Given the description of an element on the screen output the (x, y) to click on. 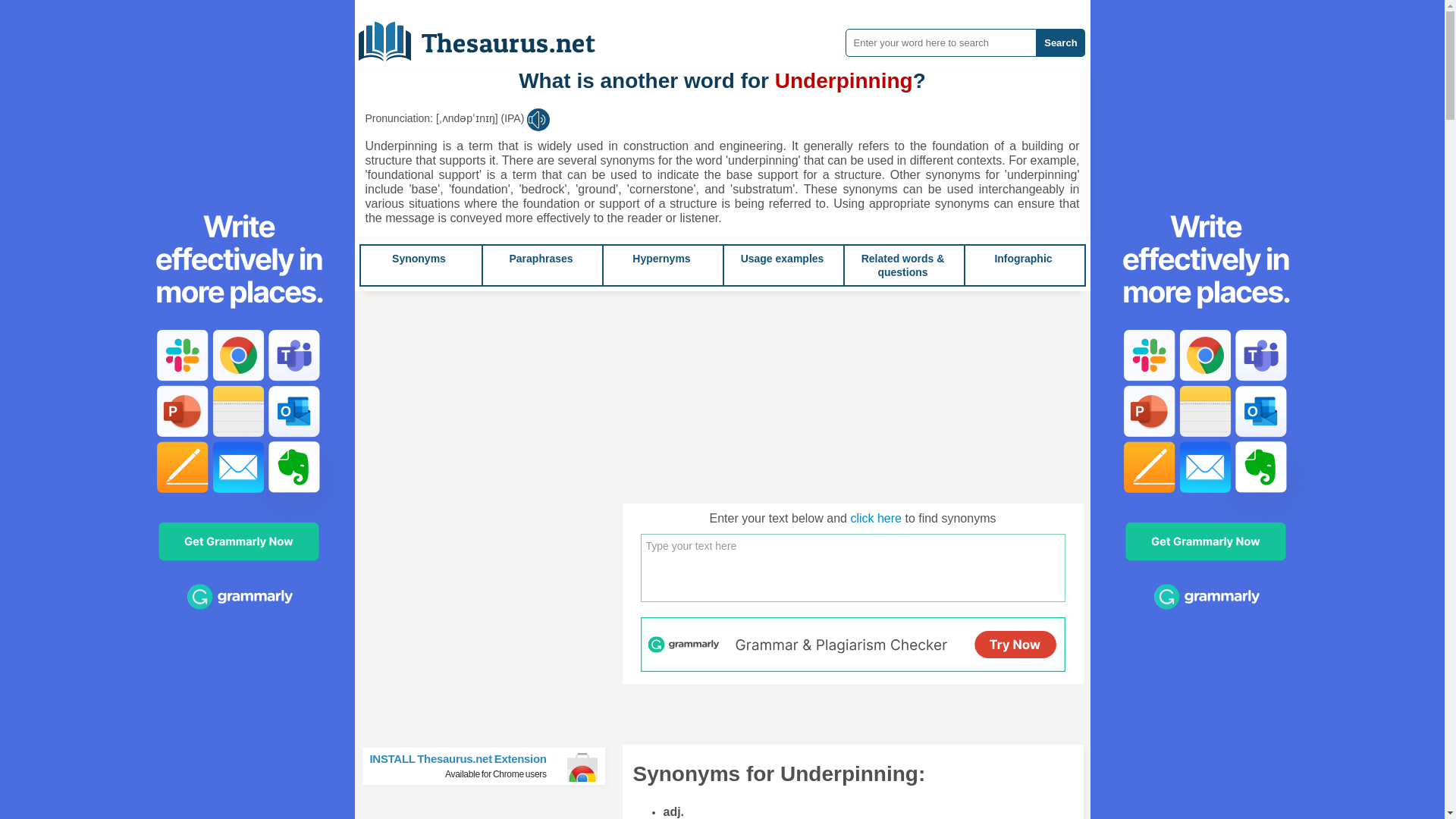
Hypernyms (660, 258)
Paraphrases (540, 258)
Thesaurus.net (487, 35)
Paraphrases (540, 258)
Usage examples (782, 258)
Synonyms (418, 258)
Infographic (1022, 258)
Hypernyms (660, 258)
Search (1060, 42)
click here (489, 765)
Synonyms (875, 517)
Infographic (418, 258)
Usage examples (1022, 258)
